Given the description of an element on the screen output the (x, y) to click on. 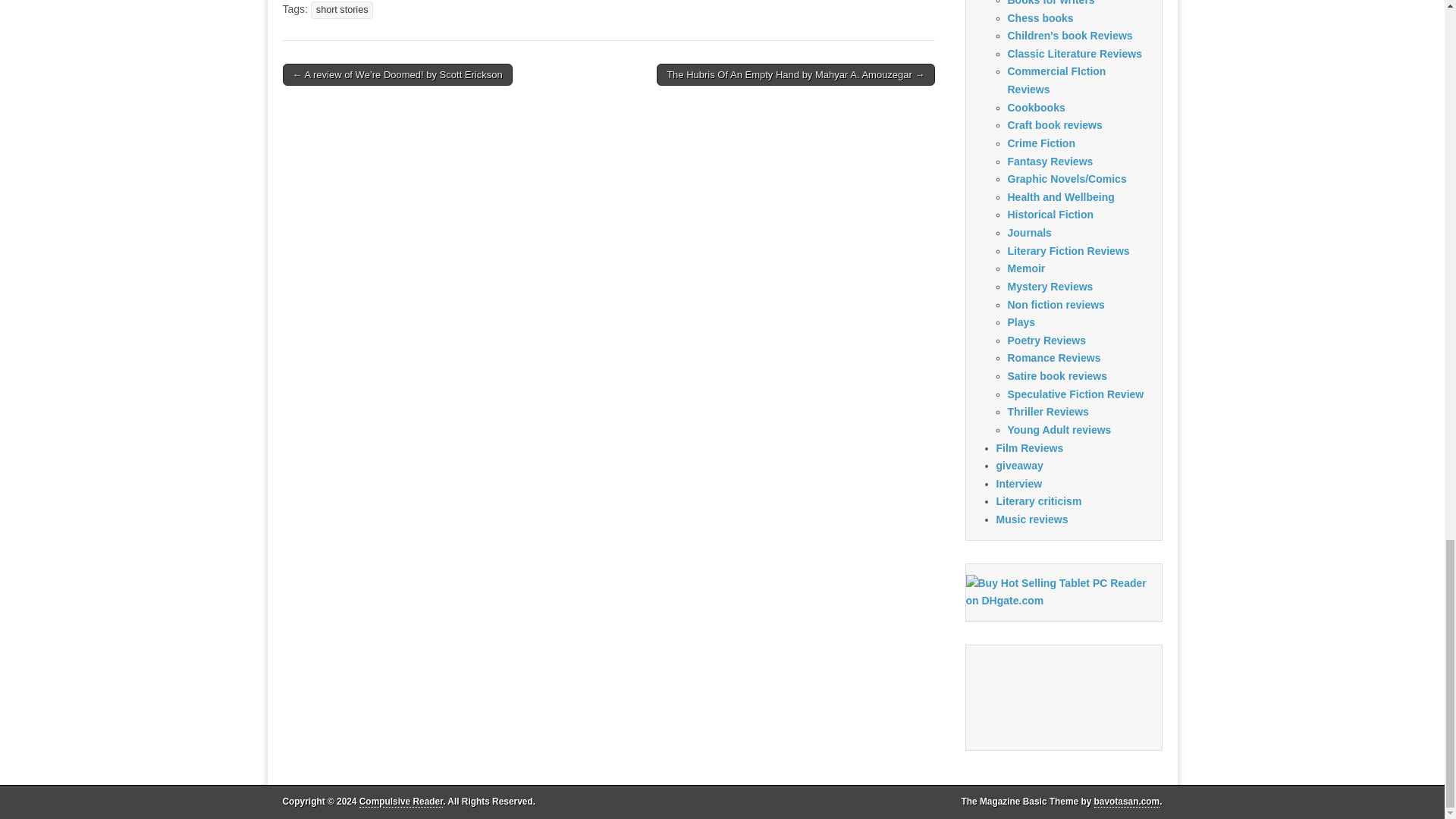
short stories (342, 9)
Crime Fiction (1040, 143)
Chess books (1040, 18)
Books for writers (1050, 2)
Fantasy Reviews (1050, 161)
Classic Literature Reviews (1074, 53)
Craft book reviews (1054, 124)
Cookbooks (1035, 107)
Commercial FIction Reviews (1056, 80)
